Given the description of an element on the screen output the (x, y) to click on. 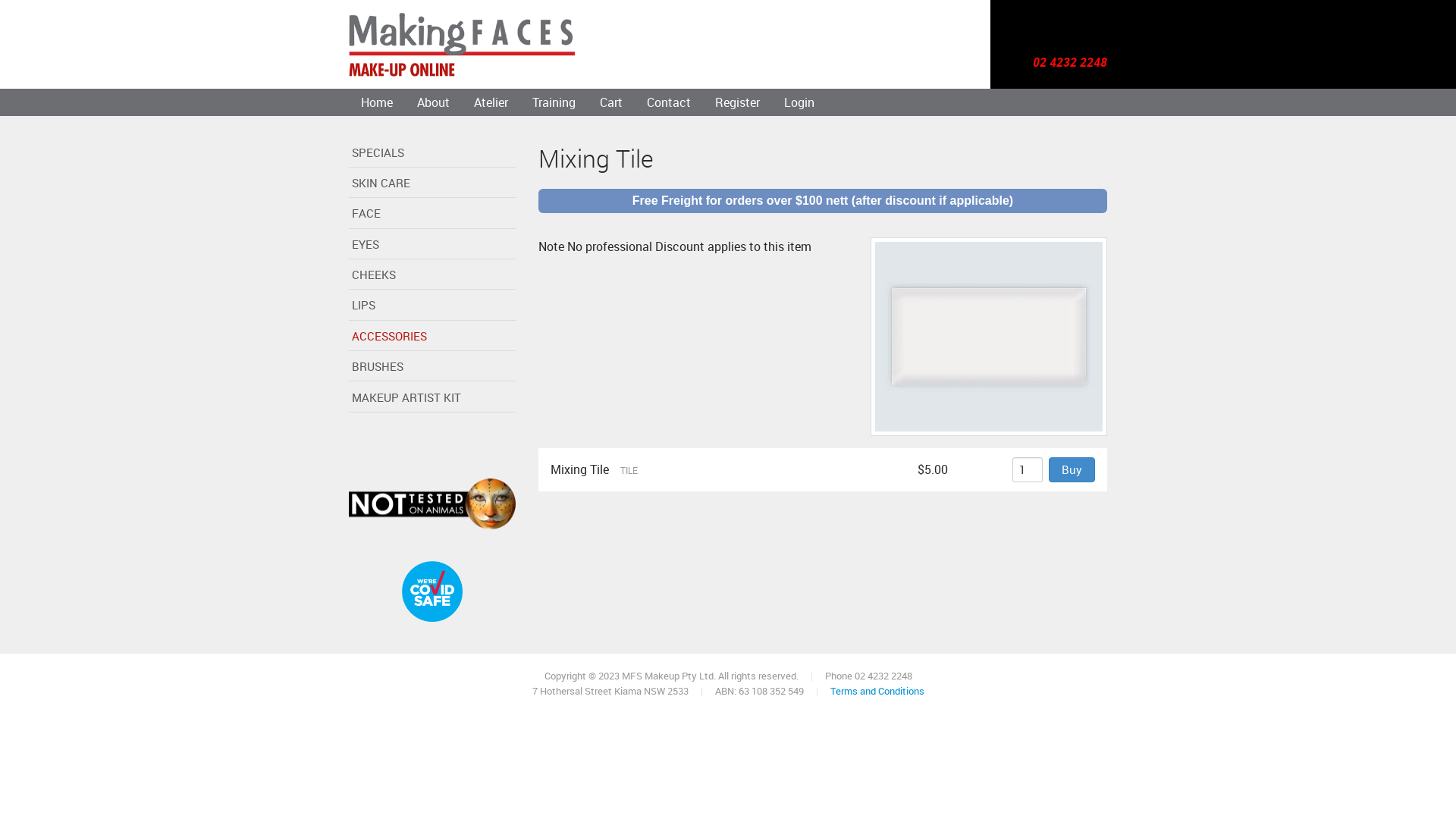
EYES Element type: text (431, 245)
Terms and Conditions Element type: text (876, 690)
BRUSHES Element type: text (431, 368)
Register Element type: text (736, 102)
FACE Element type: text (431, 215)
Pro Account -
Click here to register! Element type: text (934, 62)
Cart Element type: text (610, 102)
Previous Element type: text (1059, 151)
Home Element type: text (376, 102)
SKIN CARE Element type: text (431, 184)
ACCESSORIES Element type: text (431, 337)
About Element type: text (432, 102)
LIPS Element type: text (431, 307)
YOUTUBE Element type: text (390, 443)
FACEBOOK Element type: text (454, 444)
SPECIALS Element type: text (431, 153)
MAKEUP ARTIST KIT Element type: text (431, 398)
INSTAGRAM Element type: text (494, 444)
Buy Element type: text (1071, 469)
Training Element type: text (553, 102)
Contact Element type: text (668, 102)
CHEEKS Element type: text (431, 276)
Home Element type: hover (462, 44)
Atelier Element type: text (490, 102)
02 4232 2248 Element type: text (1069, 63)
Login Element type: text (798, 102)
Next Element type: text (1091, 151)
